Given the description of an element on the screen output the (x, y) to click on. 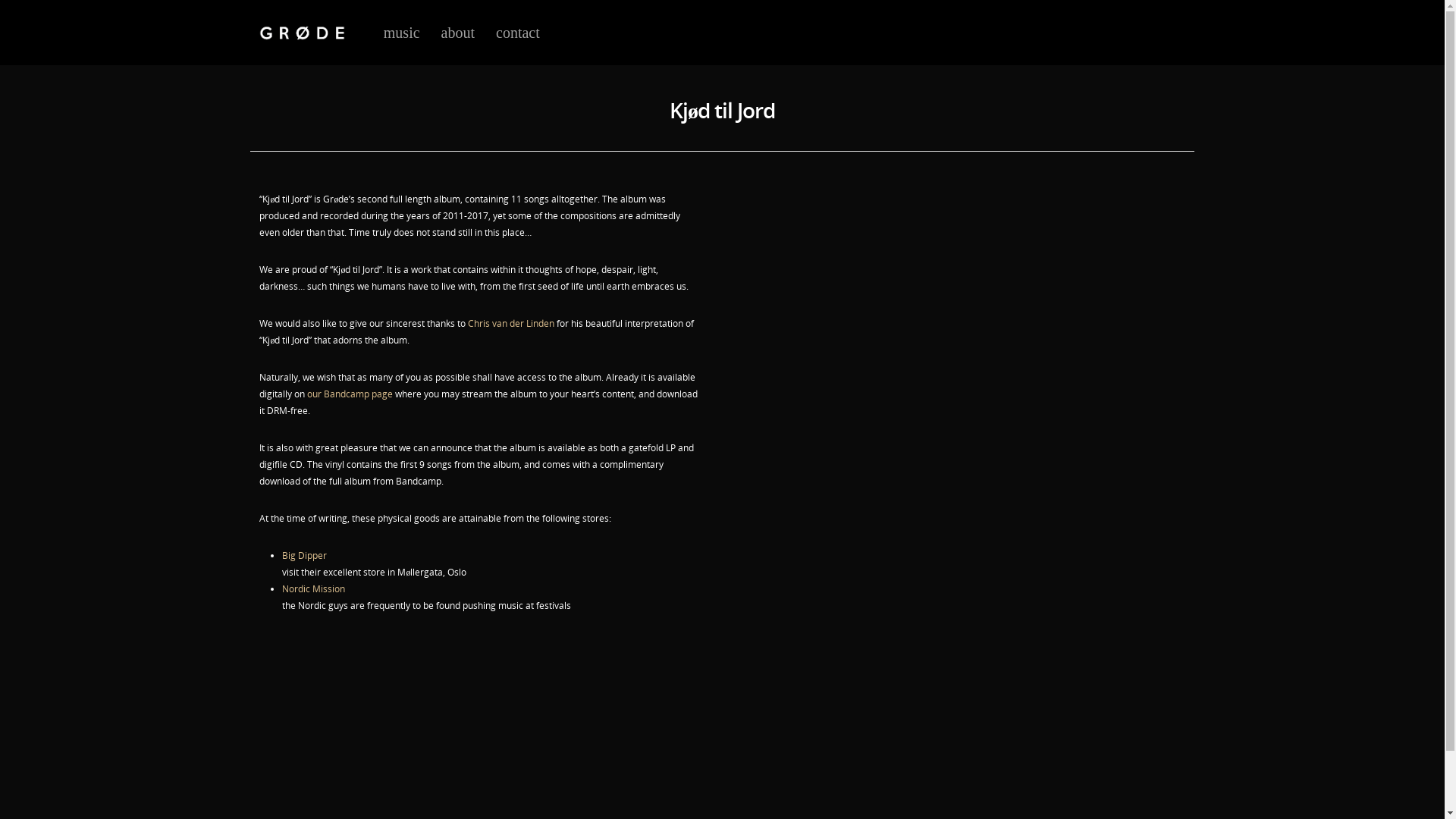
contact Element type: text (517, 43)
Chris van der Linden Element type: text (510, 322)
Big Dipper Element type: text (304, 555)
about Element type: text (457, 43)
Nordic Mission Element type: text (313, 588)
music Element type: text (401, 43)
our Bandcamp page Element type: text (349, 393)
